Given the description of an element on the screen output the (x, y) to click on. 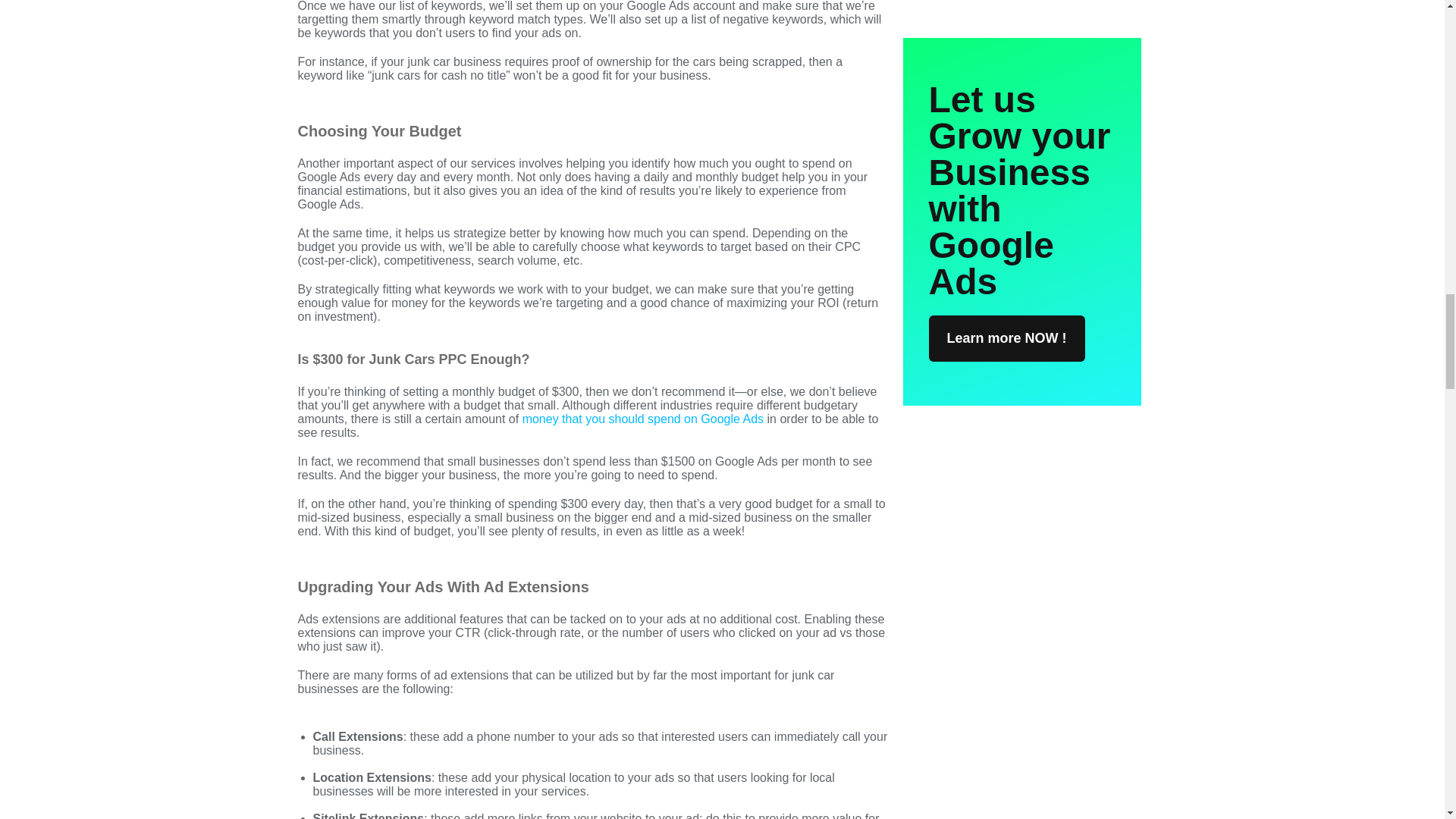
money that you should spend on Google Ads (642, 418)
